Given the description of an element on the screen output the (x, y) to click on. 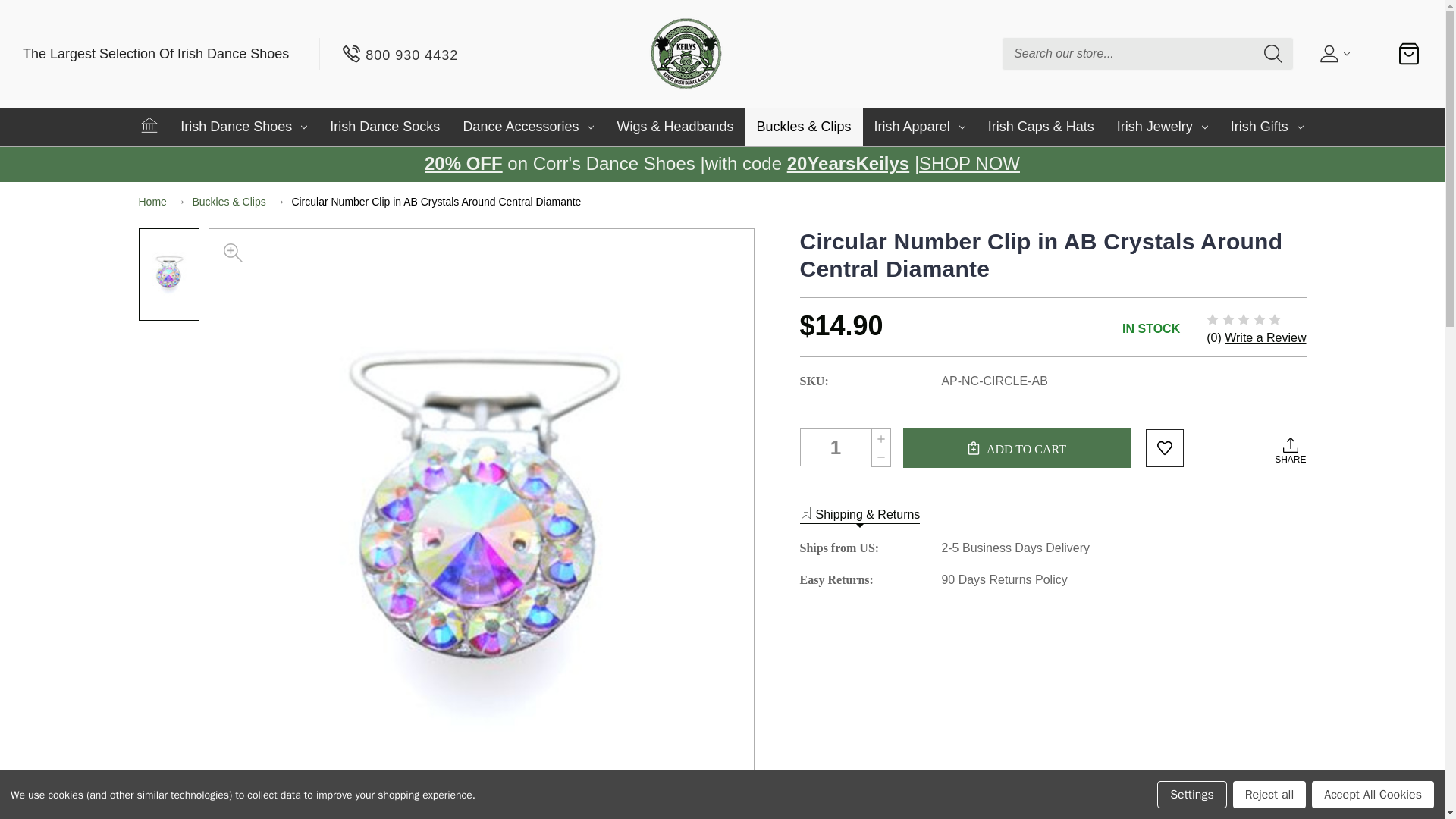
SEARCH (1272, 54)
1 (844, 447)
Dance Accessories (528, 126)
Irish Apparel (919, 126)
Irish Dance Shoes (243, 126)
800 930 4432 (400, 54)
USER (1332, 54)
Irish Dance Socks (384, 126)
